Given the description of an element on the screen output the (x, y) to click on. 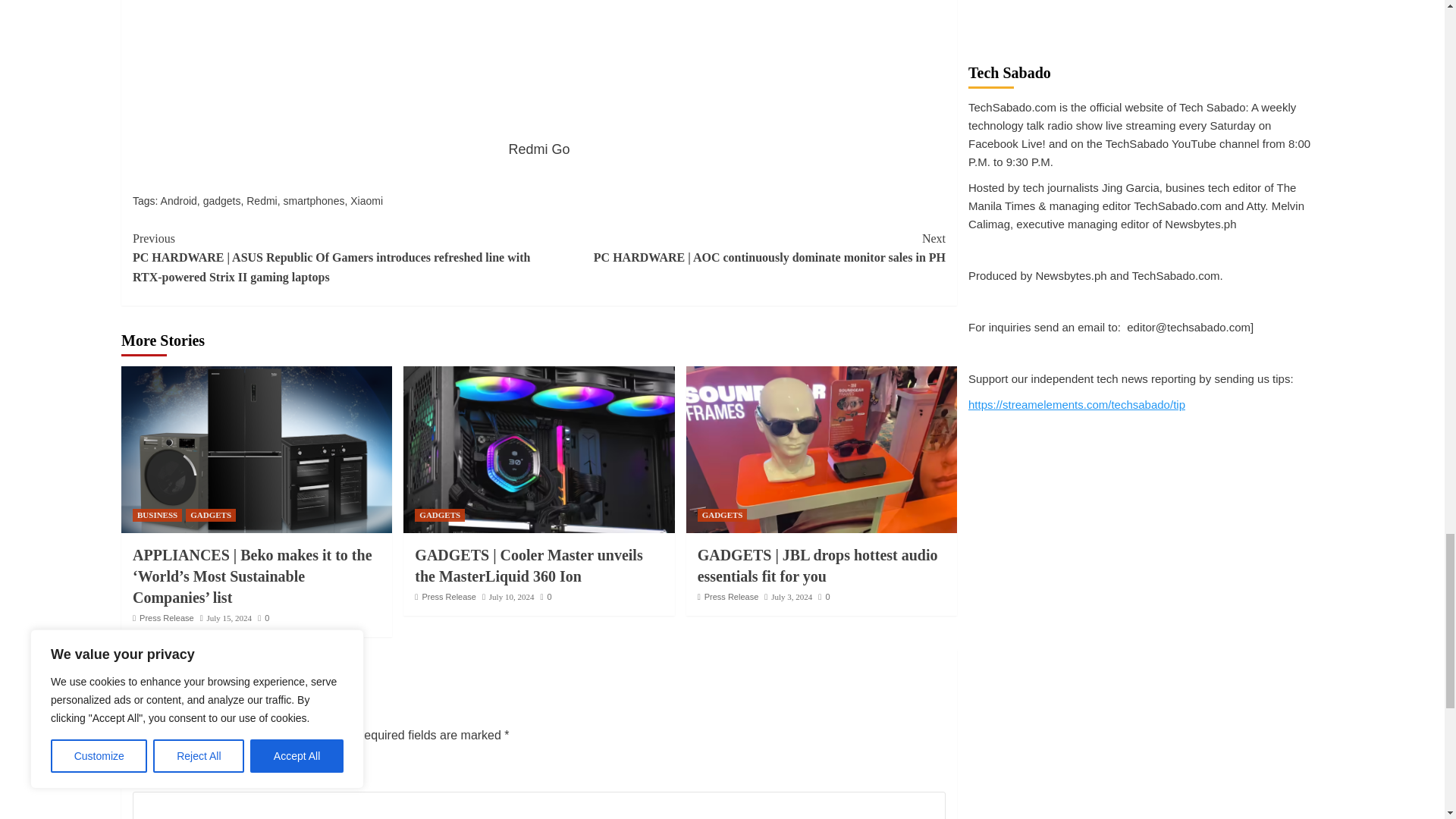
Android (178, 200)
smartphones (314, 200)
gadgets (222, 200)
Redmi (261, 200)
